Given the description of an element on the screen output the (x, y) to click on. 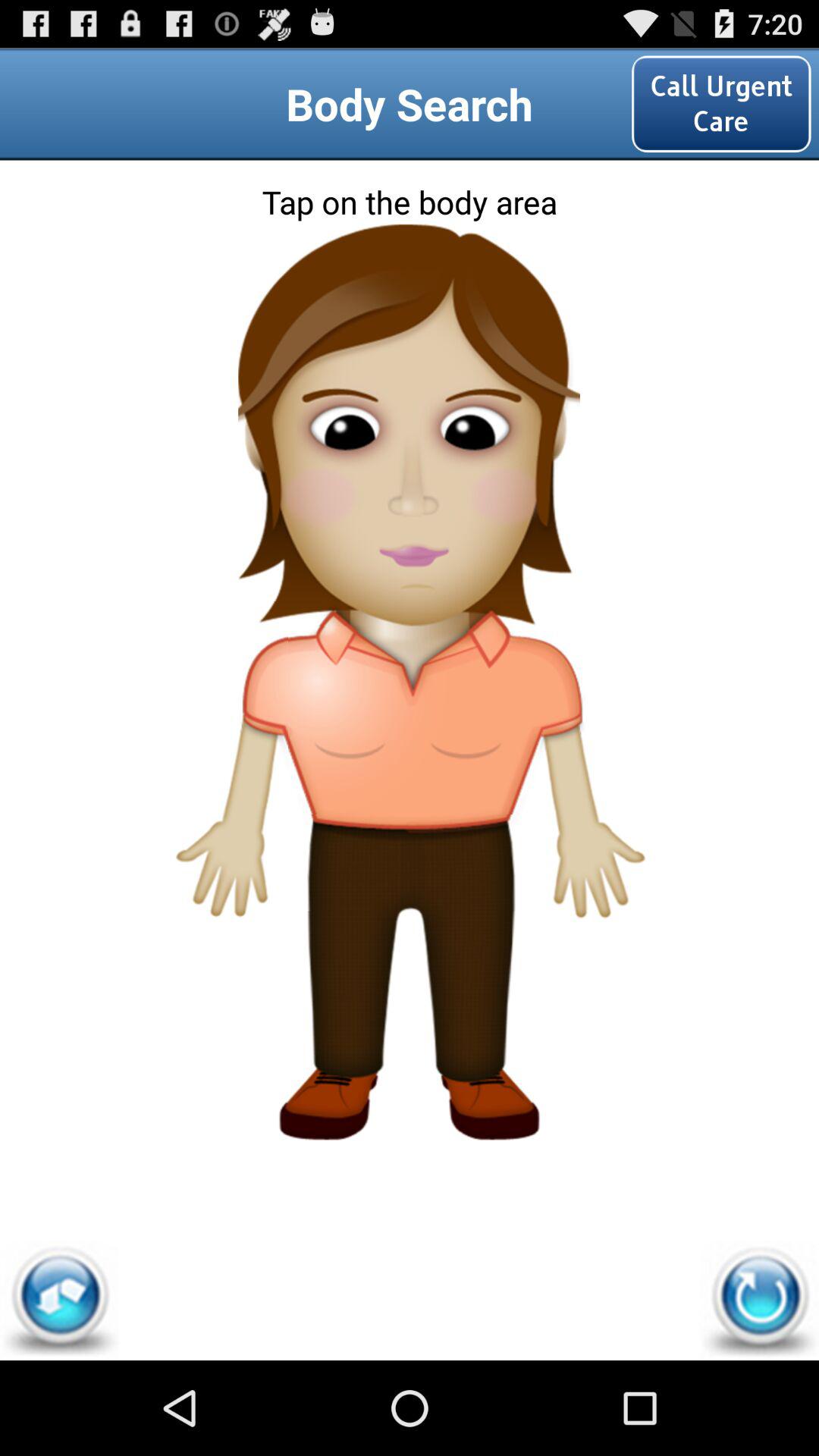
choose icon below tap on the app (59, 1300)
